Given the description of an element on the screen output the (x, y) to click on. 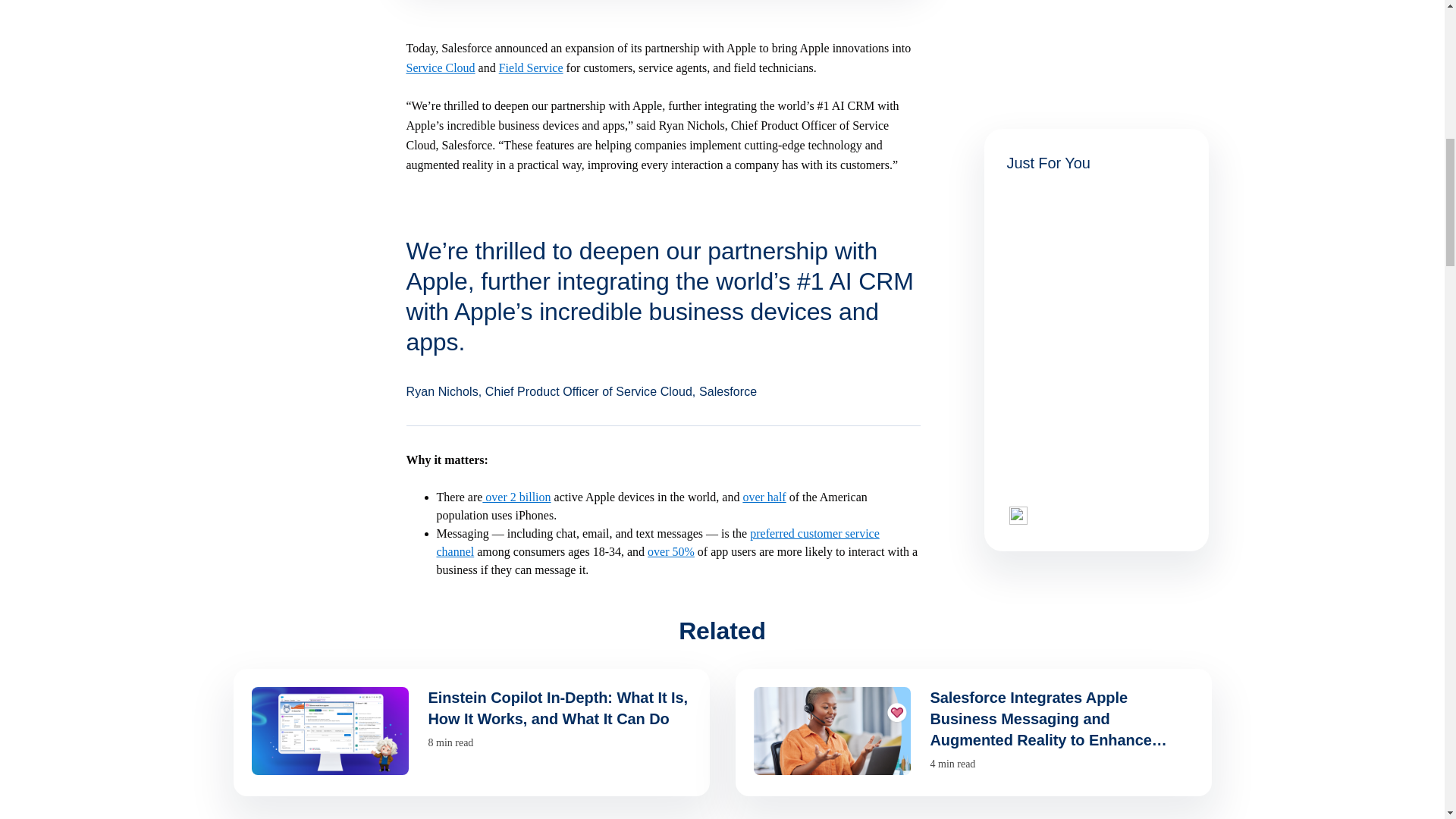
preferred customer service channel (657, 542)
Field Service (531, 67)
over half (764, 496)
over 2 billion (515, 496)
Service Cloud (441, 67)
